Given the description of an element on the screen output the (x, y) to click on. 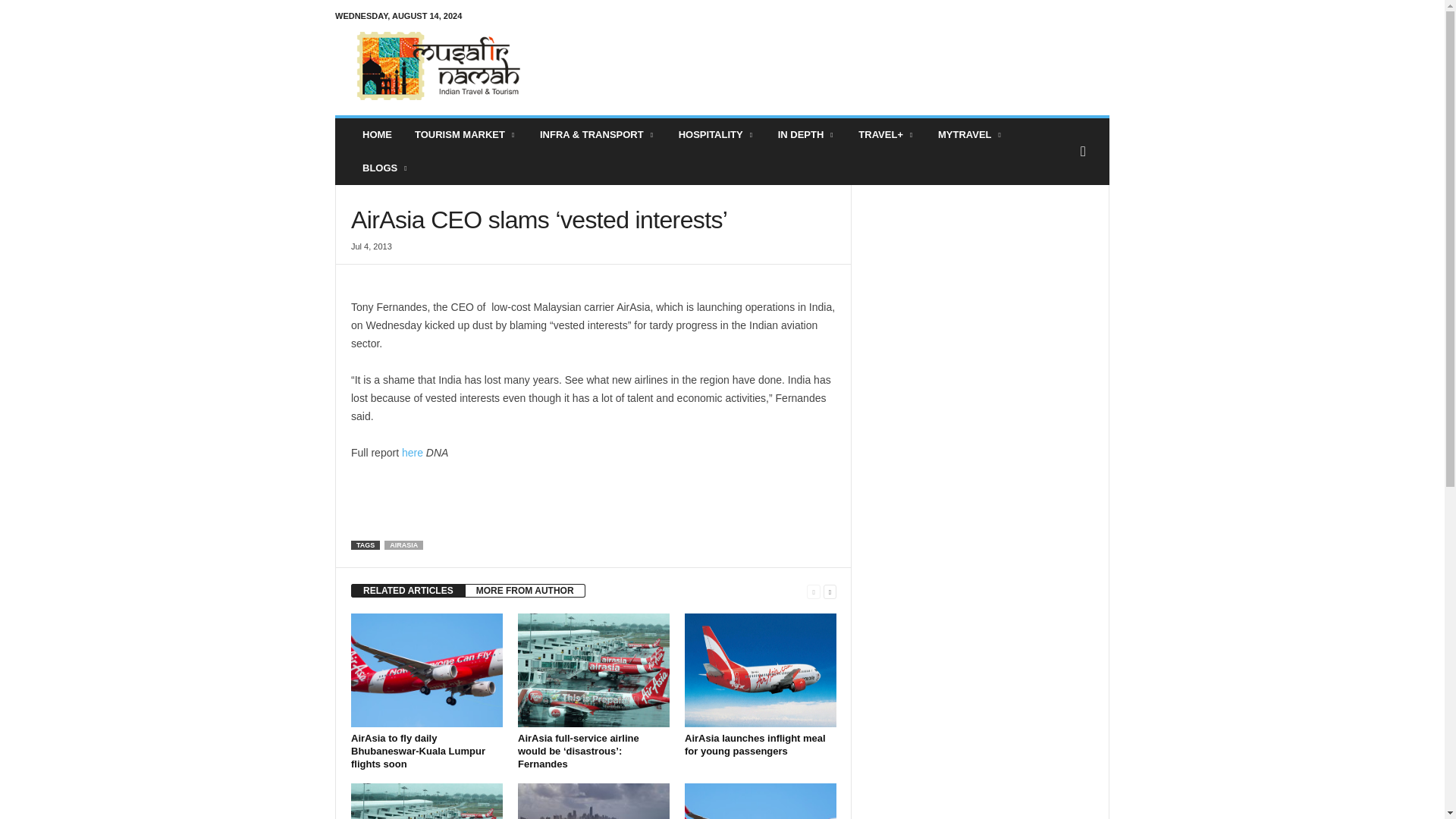
Blogs (385, 168)
Musafir Namah (438, 65)
Advertisement (833, 65)
